Given the description of an element on the screen output the (x, y) to click on. 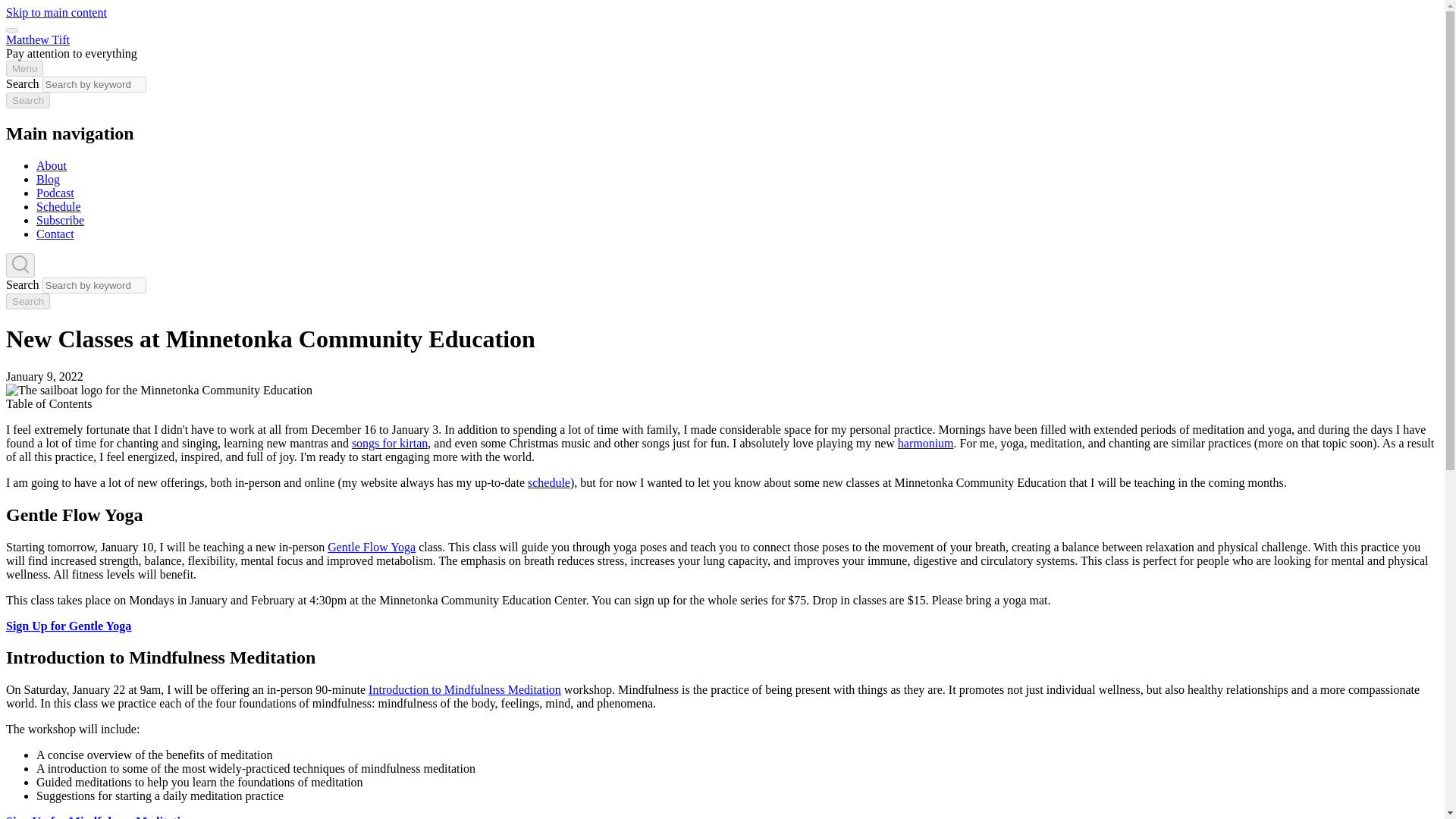
Contact (55, 233)
Home (37, 39)
About (51, 164)
Menu (24, 68)
Subscribe (60, 219)
Sign Up for Mindfulness Meditation (99, 816)
harmonium (925, 442)
Schedule (58, 205)
Search (27, 301)
songs for kirtan (390, 442)
